Given the description of an element on the screen output the (x, y) to click on. 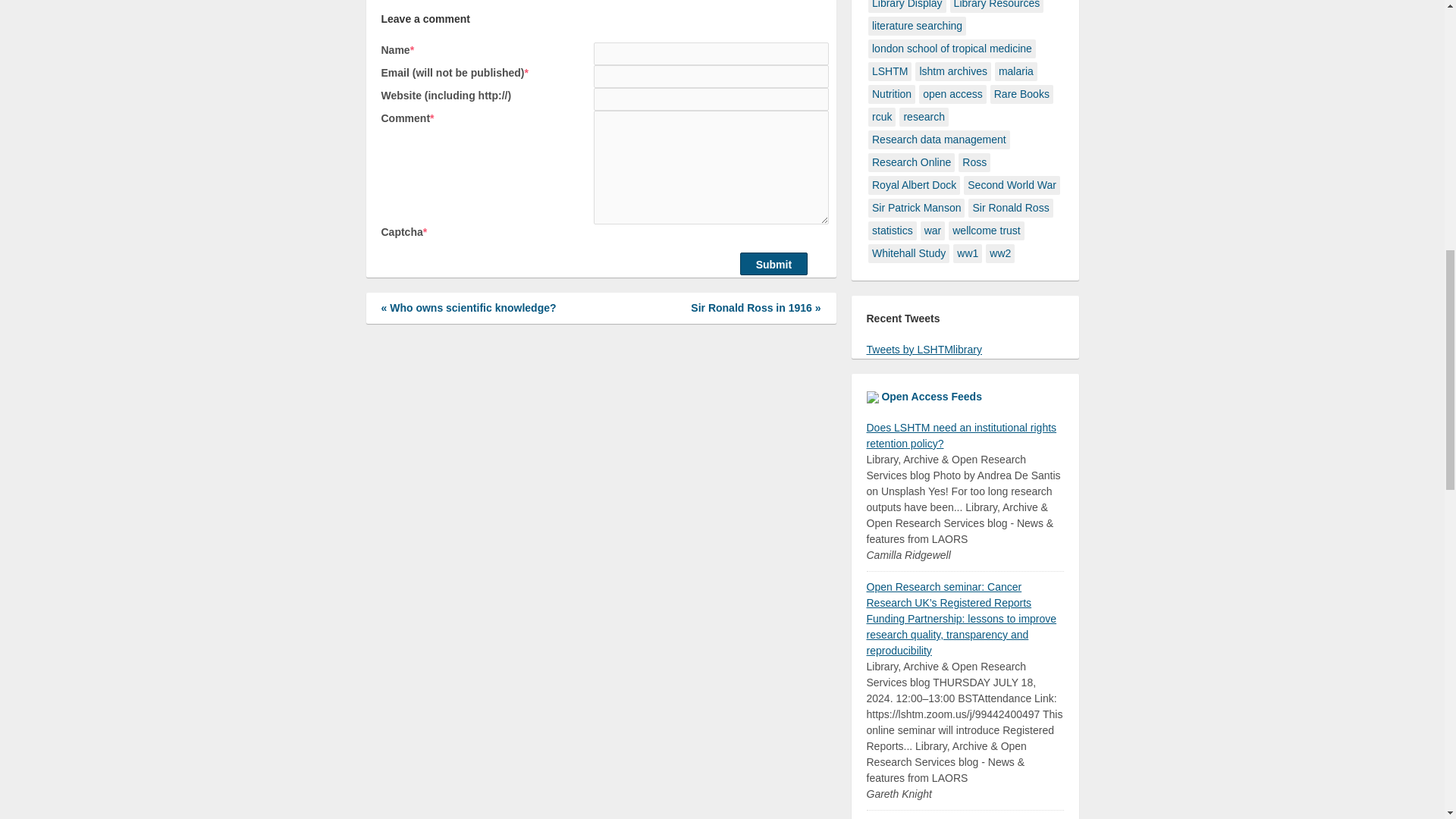
Submit (773, 263)
Submit (773, 263)
